Given the description of an element on the screen output the (x, y) to click on. 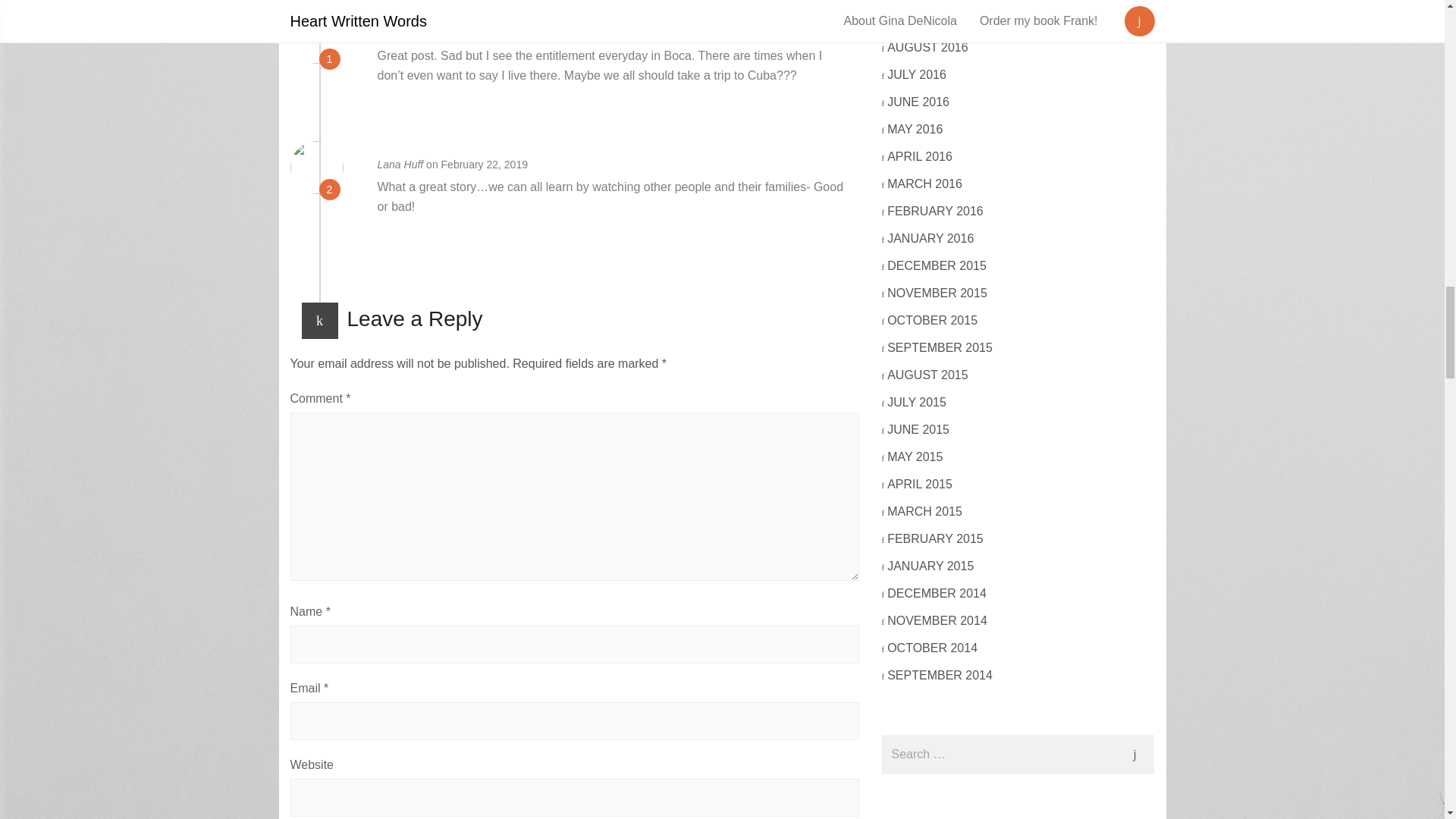
Search (1134, 754)
Search (1134, 754)
